Given the description of an element on the screen output the (x, y) to click on. 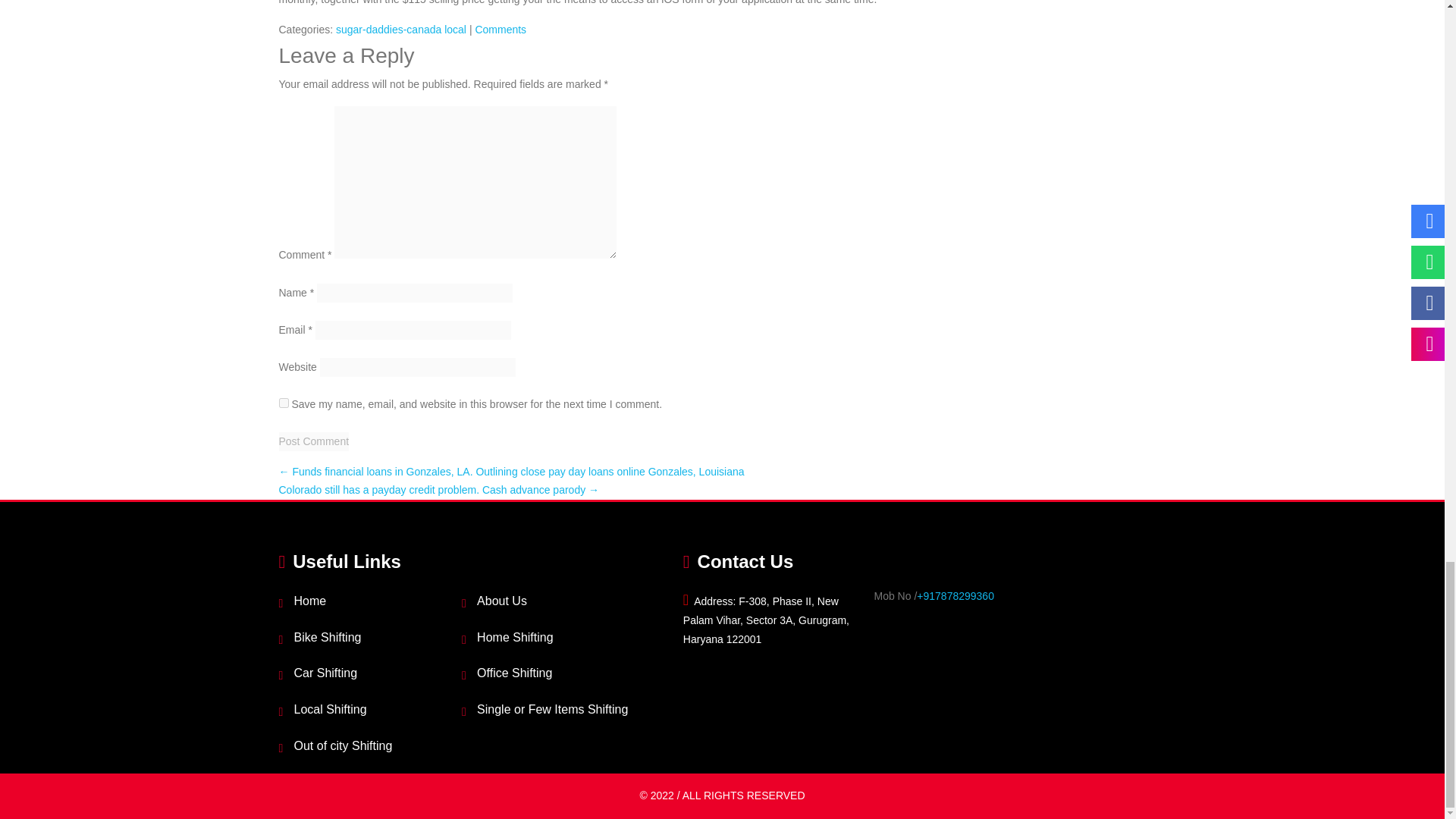
yes (283, 402)
sugar-daddies-canada local (400, 29)
Comments (499, 29)
Post Comment (314, 441)
